Given the description of an element on the screen output the (x, y) to click on. 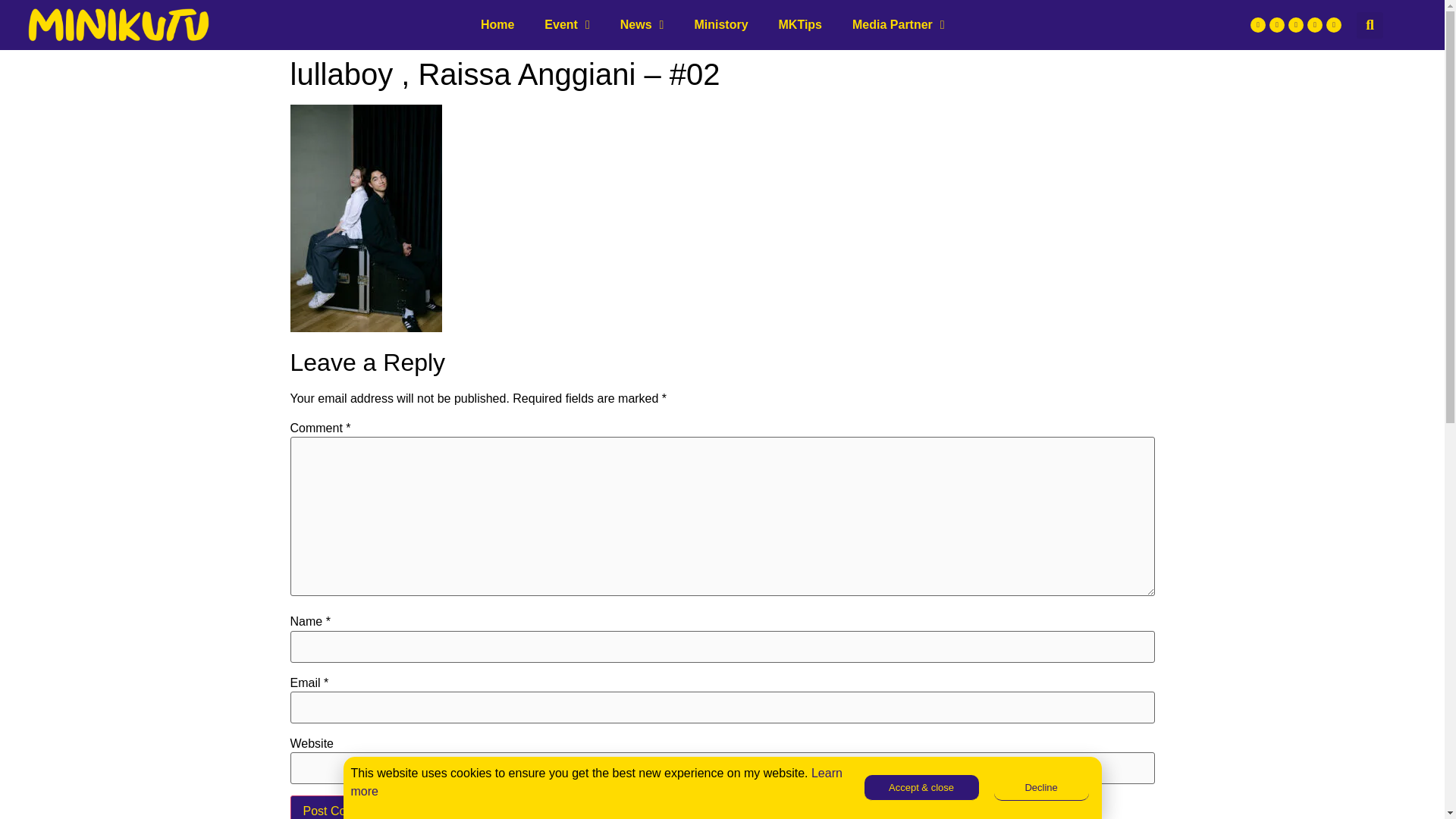
Home (497, 24)
Media Partner (898, 24)
Post Comment (342, 807)
News (642, 24)
MKTips (799, 24)
Ministory (720, 24)
Event (566, 24)
